Given the description of an element on the screen output the (x, y) to click on. 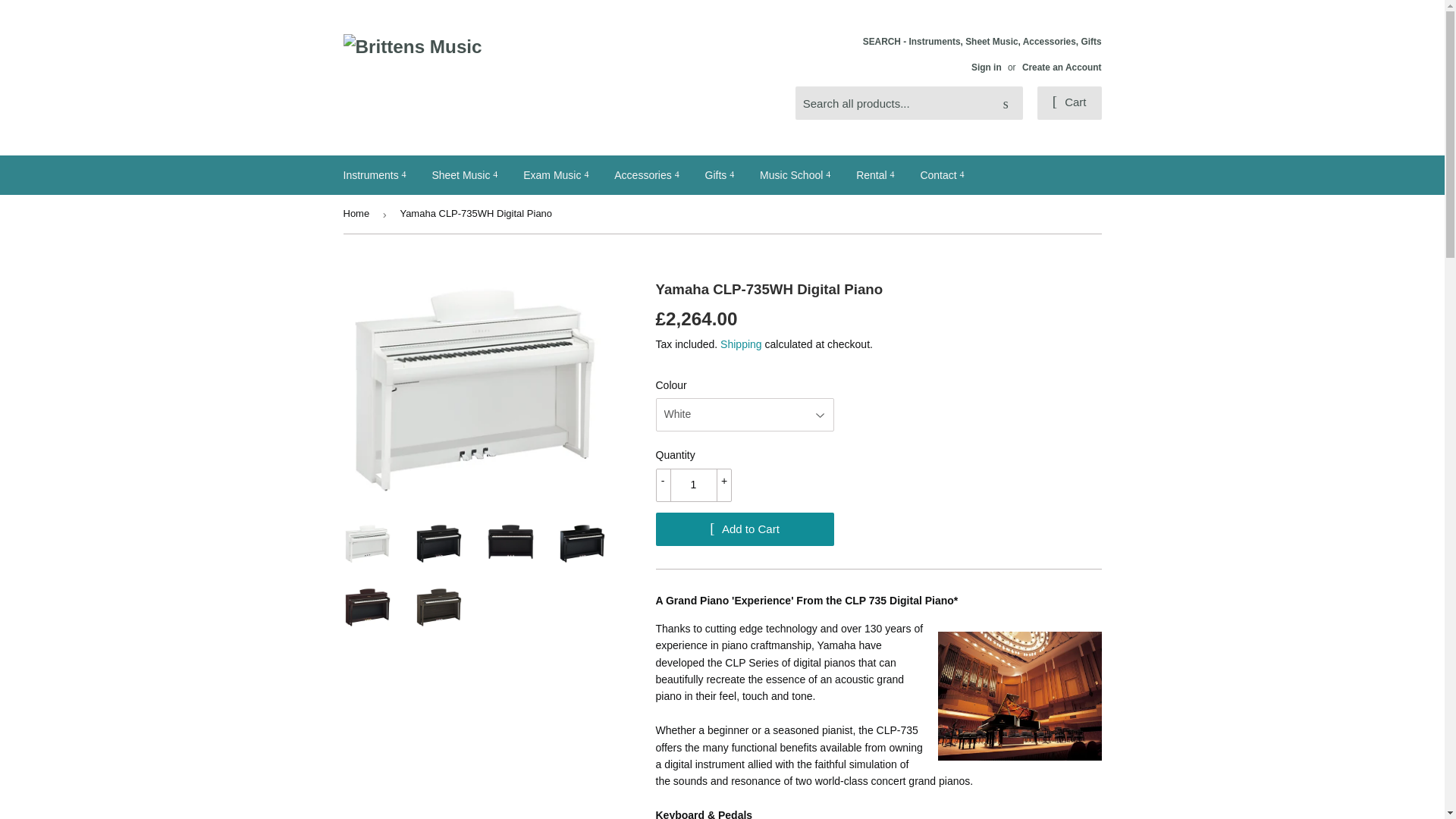
Create an Account (1062, 67)
Sign in (986, 67)
1 (692, 485)
Search (1005, 103)
SEARCH - Instruments, Sheet Music, Accessories, Gifts (982, 53)
Cart (1069, 102)
